Given the description of an element on the screen output the (x, y) to click on. 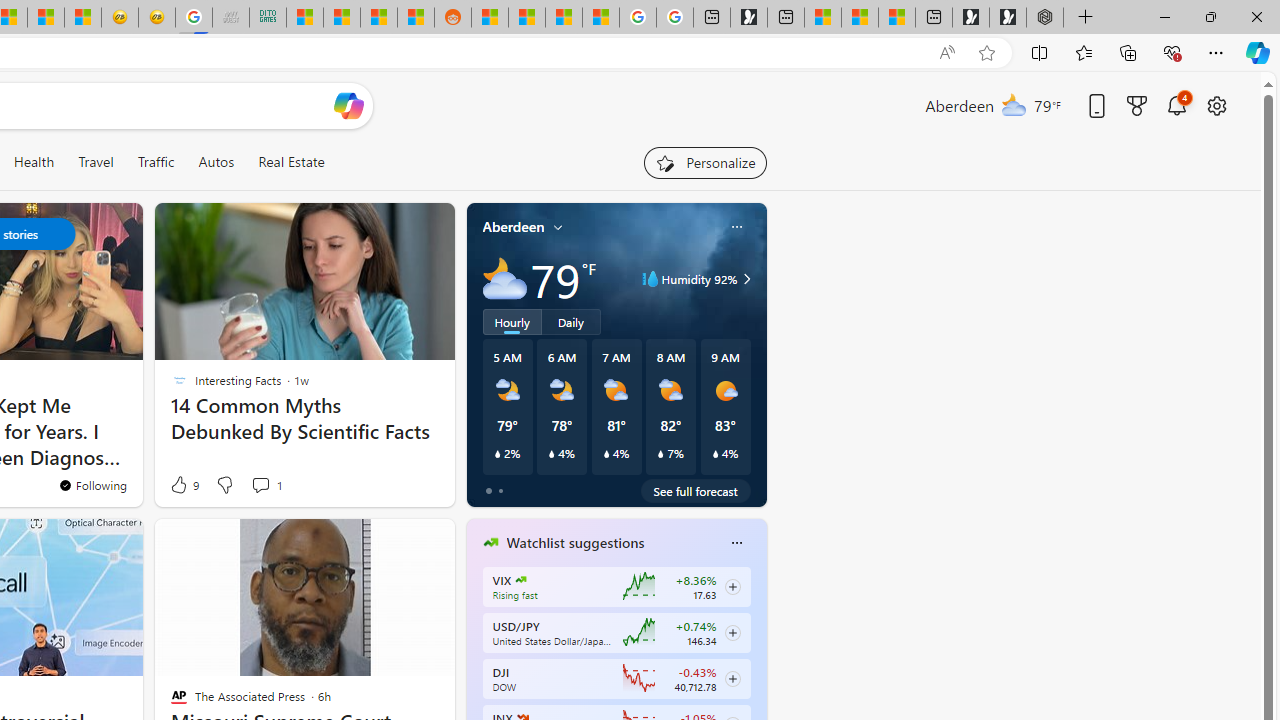
Daily (571, 321)
You're following FOX News (390, 490)
